Given the description of an element on the screen output the (x, y) to click on. 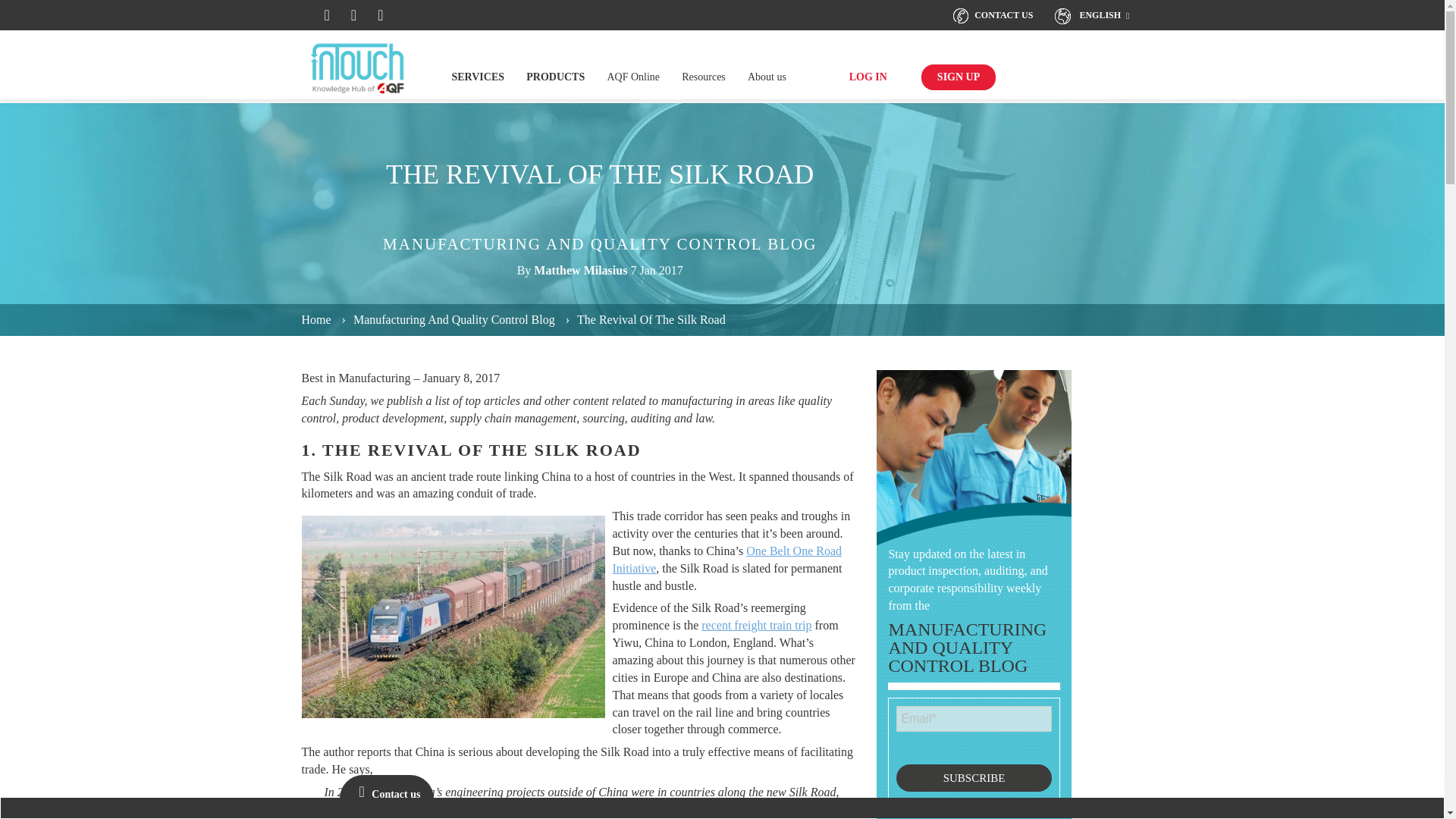
Contact Us (991, 14)
SERVICES (478, 77)
CONTACT US (991, 14)
Subscribe (973, 778)
PRODUCTS (555, 77)
silk road (453, 616)
